Given the description of an element on the screen output the (x, y) to click on. 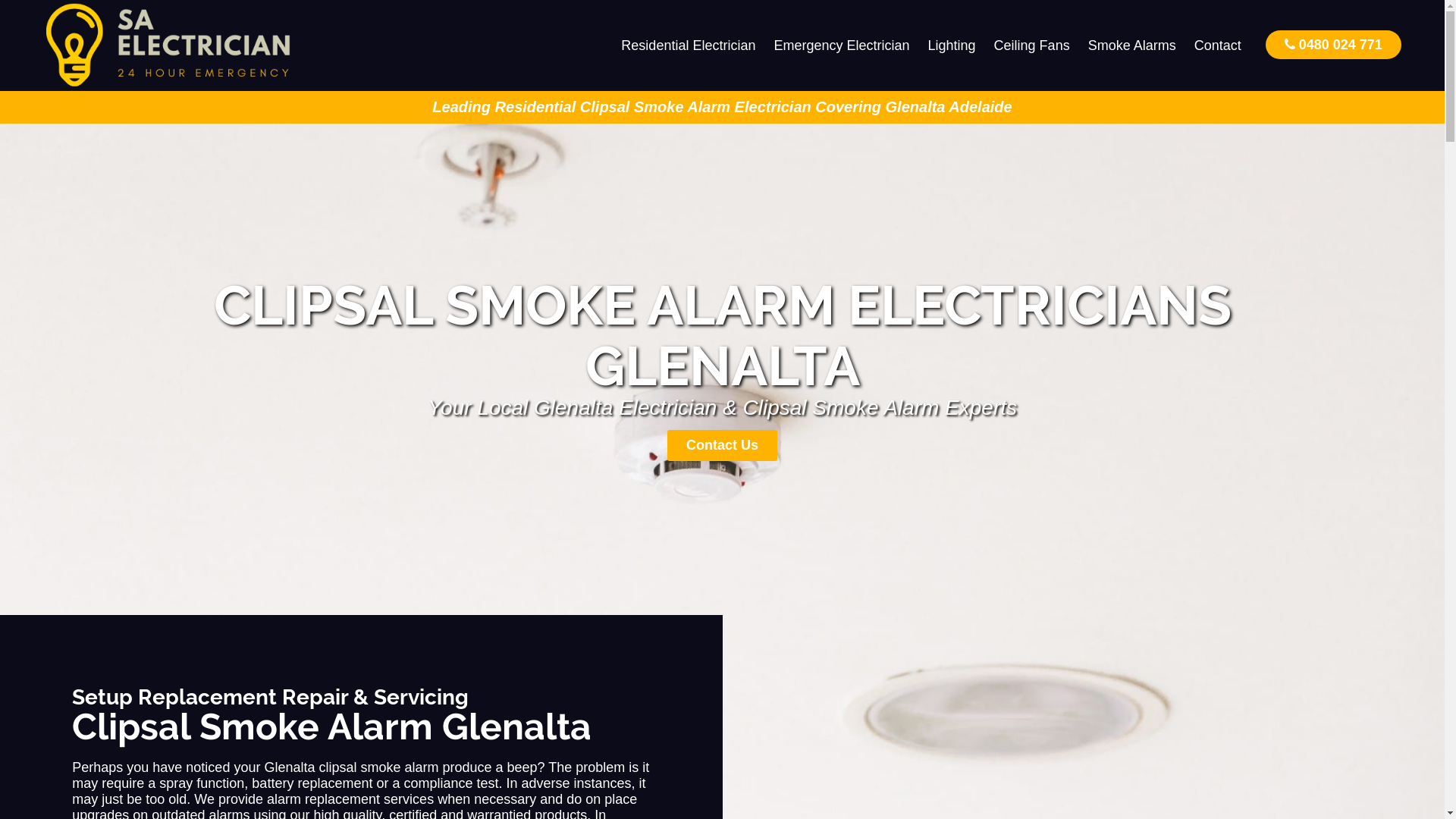
Lighting Element type: text (952, 45)
Residential Electrician Element type: text (687, 45)
Smoke Alarms Element type: text (1132, 45)
Emergency Electrician Element type: text (841, 45)
Ceiling Fans Element type: text (1032, 45)
Contact Us Element type: text (722, 445)
Contact Element type: text (1217, 45)
0480 024 771 Element type: text (1333, 44)
